Given the description of an element on the screen output the (x, y) to click on. 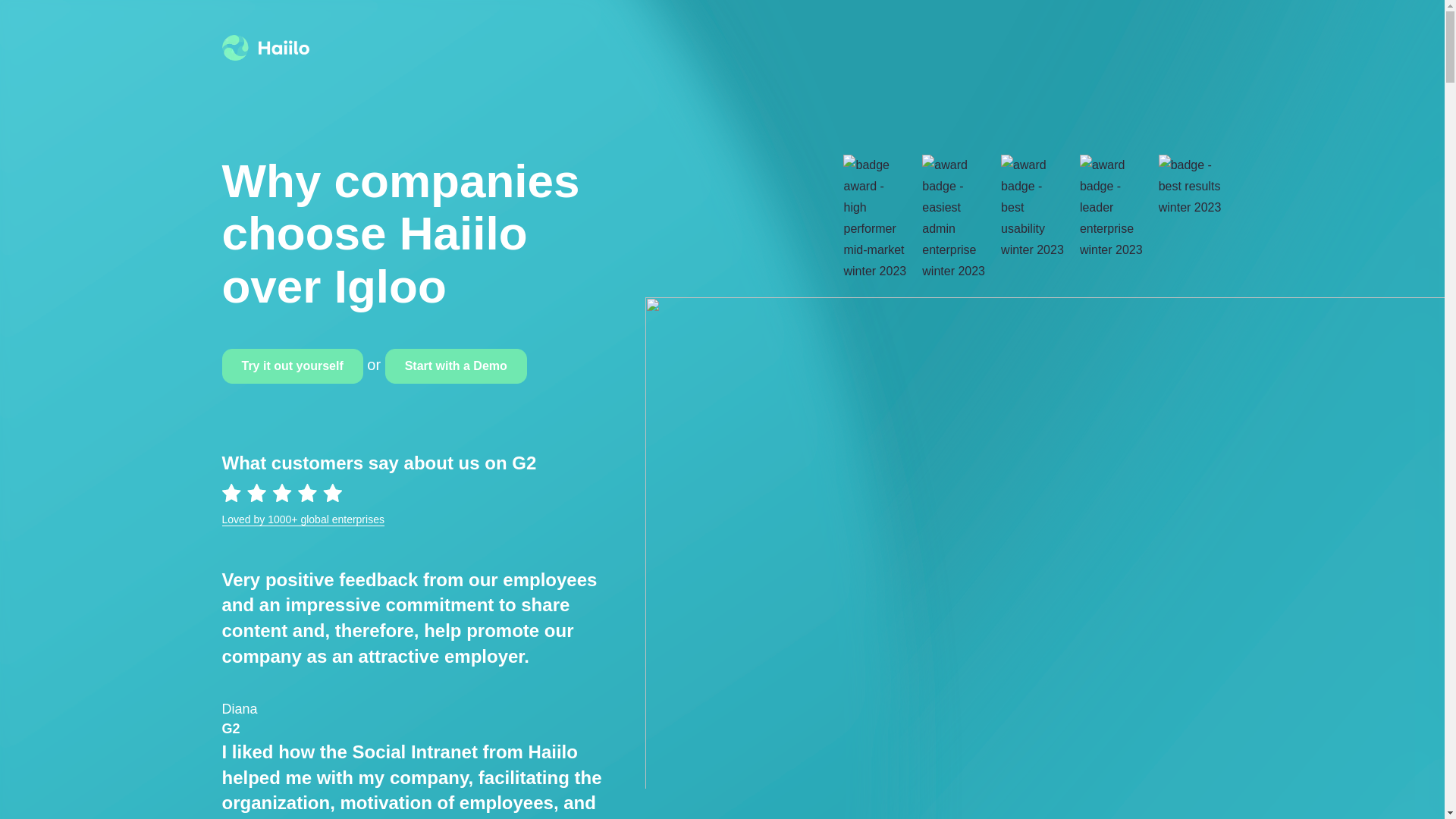
Haiilo (264, 47)
Try it out yourself (291, 366)
Start with a Demo (456, 366)
